Given the description of an element on the screen output the (x, y) to click on. 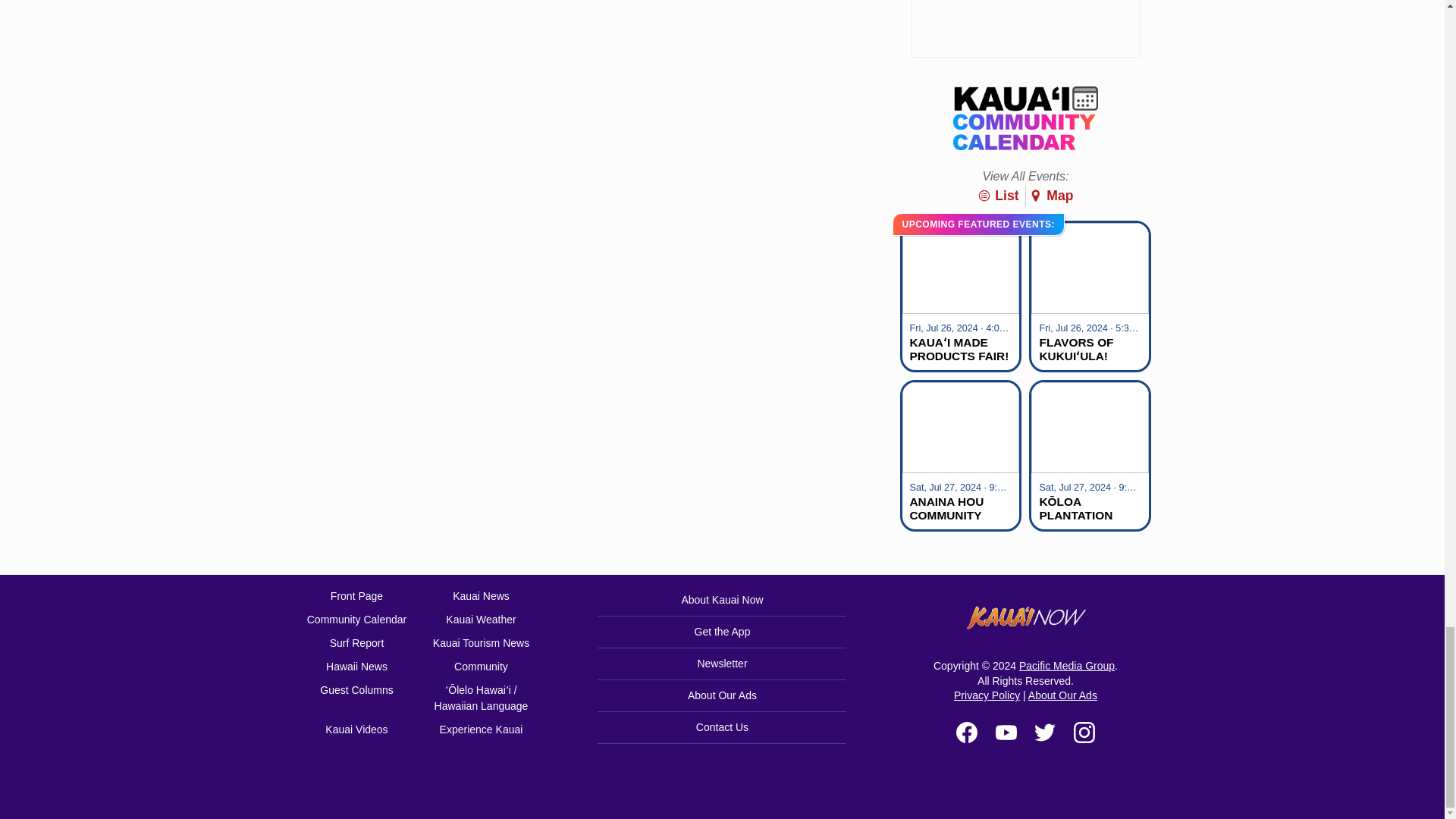
List Circle (983, 195)
Facebook (966, 731)
Instagram (1084, 731)
Twitter (1044, 731)
3rd party ad content (1025, 28)
YouTube (1005, 731)
